Given the description of an element on the screen output the (x, y) to click on. 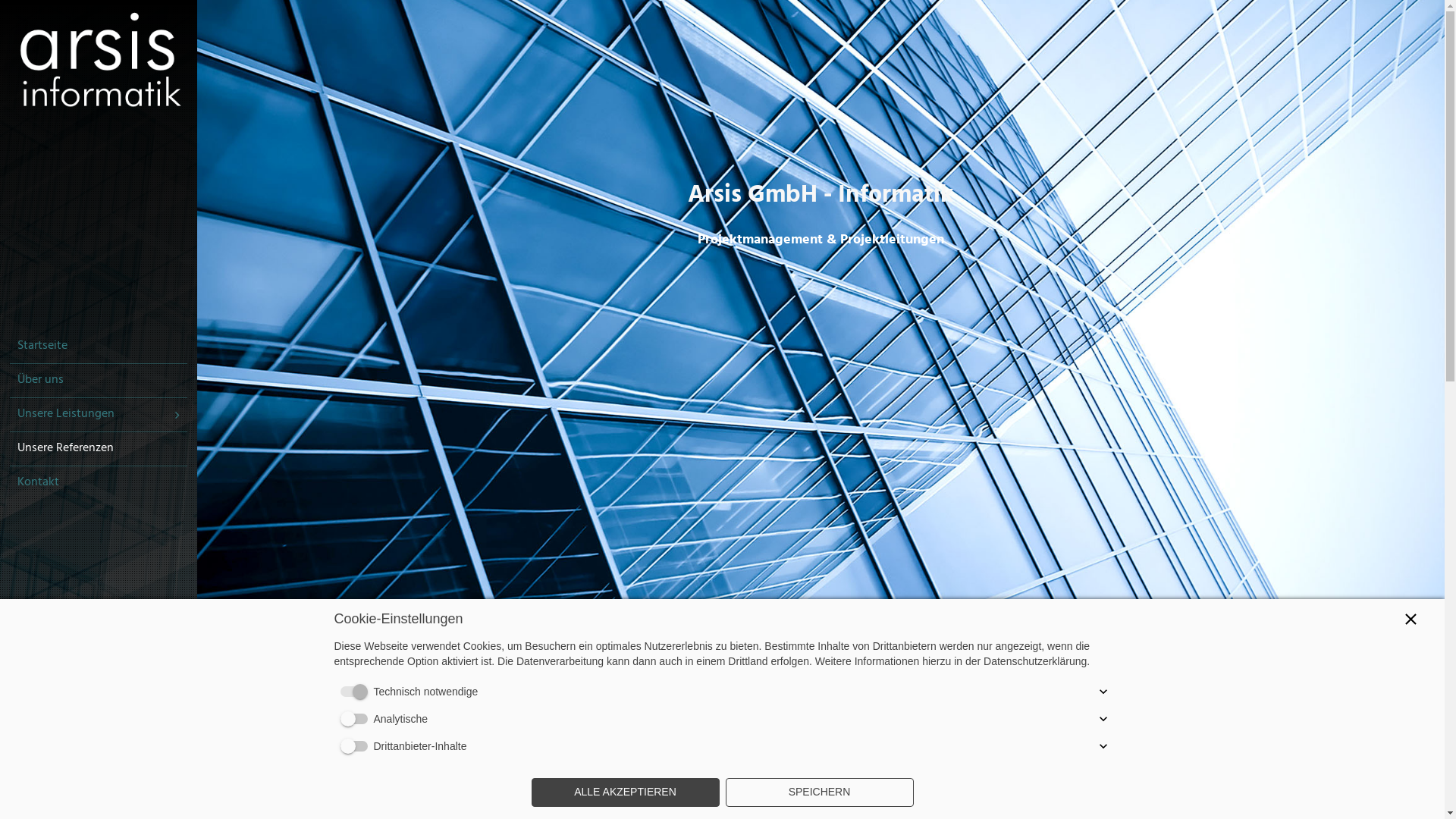
Unsere Referenzen Element type: text (98, 448)
Unsere Leistungen Element type: text (98, 414)
ALLE AKZEPTIEREN Element type: text (624, 792)
Kontakt Element type: text (98, 482)
Startseite Element type: text (98, 346)
SPEICHERN Element type: text (818, 792)
